Given the description of an element on the screen output the (x, y) to click on. 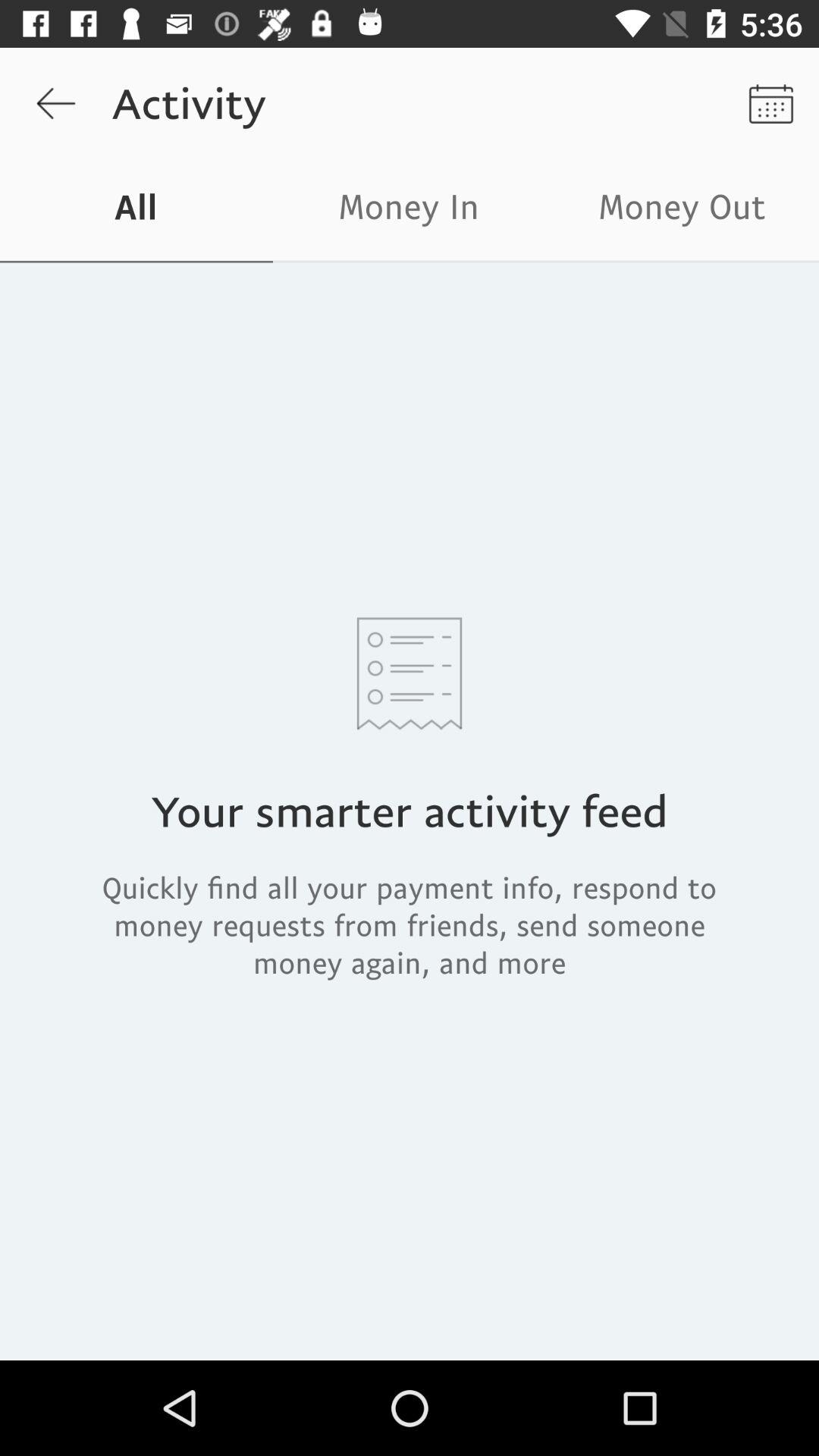
select the item next to all icon (409, 210)
